Given the description of an element on the screen output the (x, y) to click on. 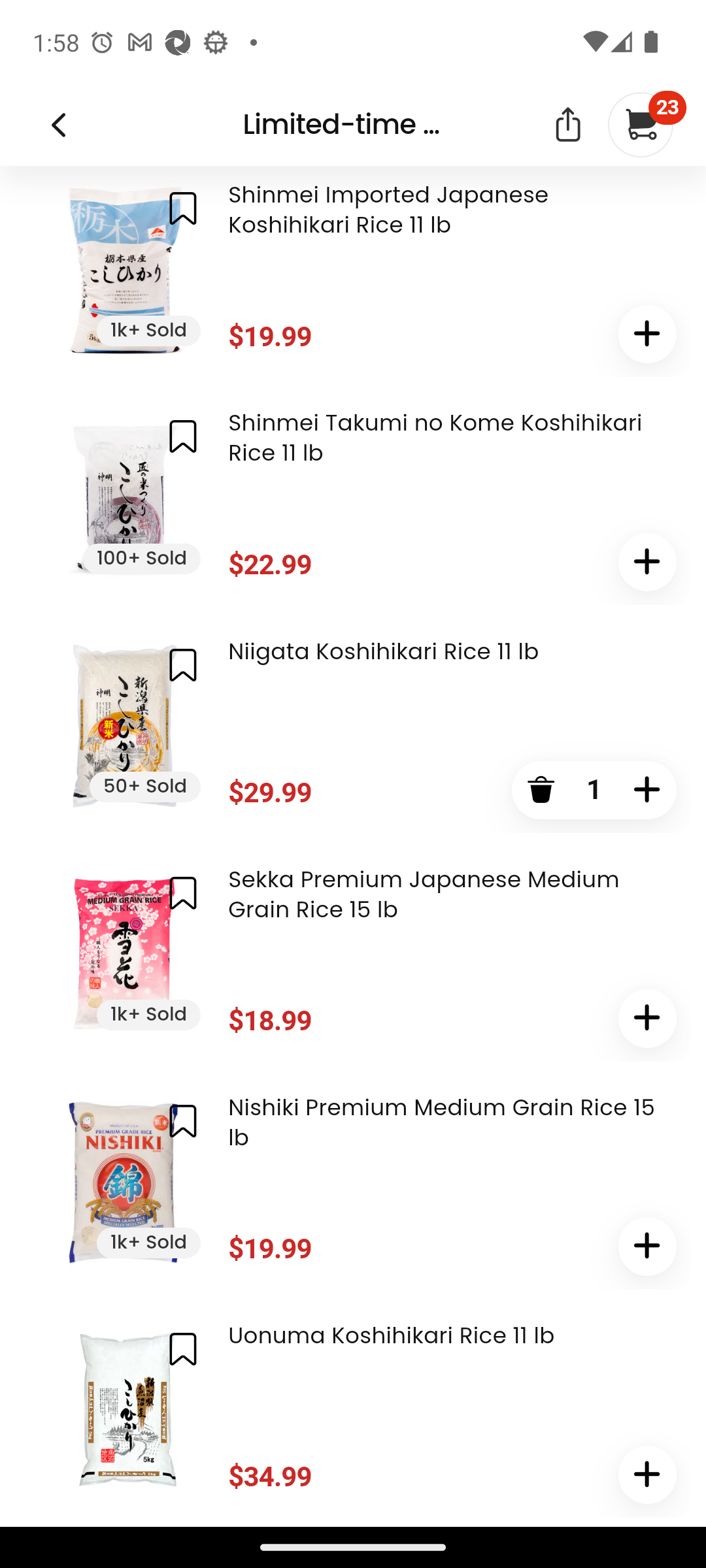
Weee! - Groceries Delivered (57, 125)
23 My cart (639, 125)
 (567, 126)
 (182, 208)
 (647, 335)
 (182, 437)
 (647, 564)
 (182, 665)
 (540, 791)
1   (647, 791)
 (182, 893)
 (647, 1019)
 (182, 1121)
 (647, 1246)
 (182, 1348)
 (647, 1475)
